Given the description of an element on the screen output the (x, y) to click on. 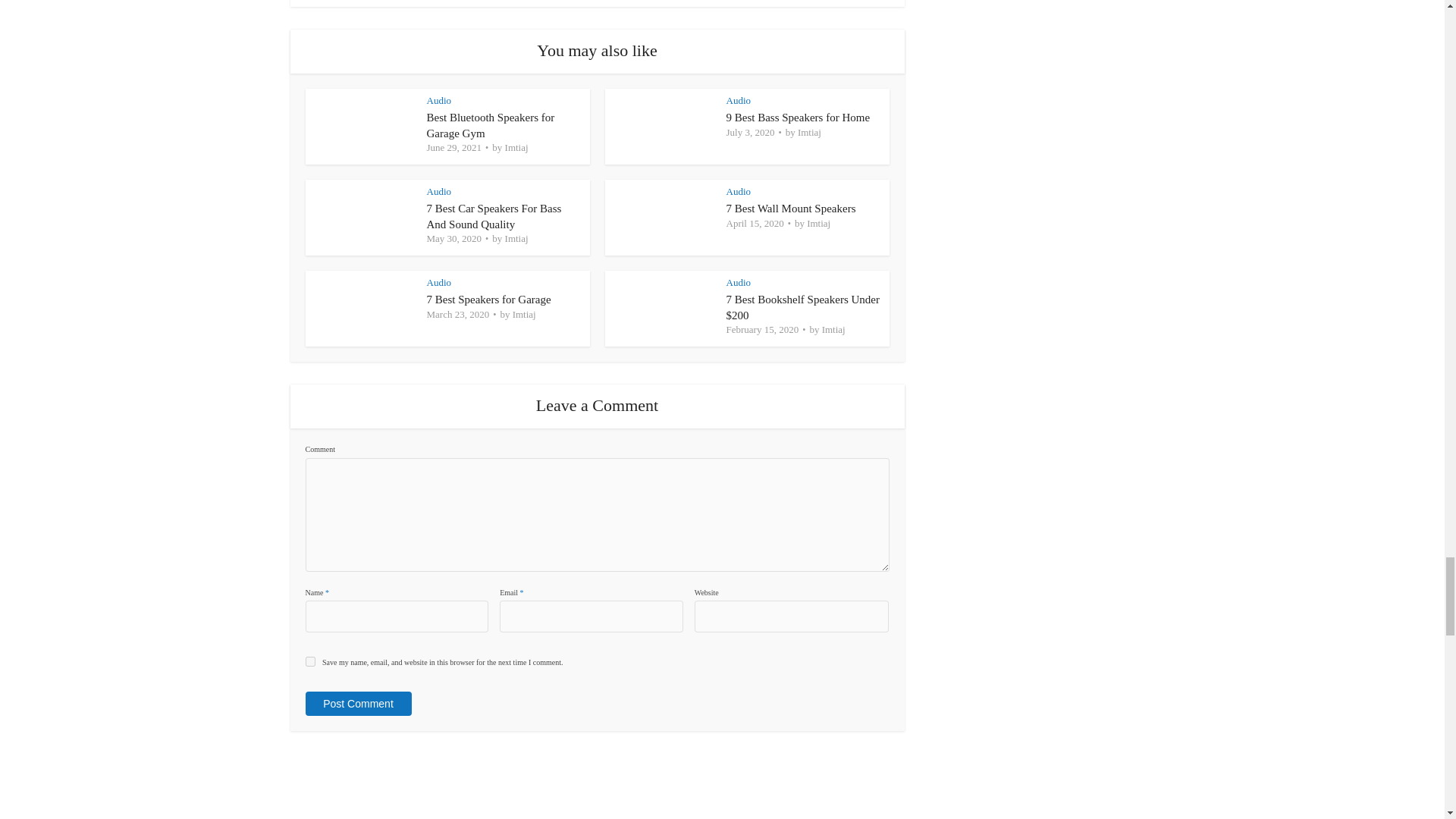
Audio (438, 100)
Imtiaj (516, 147)
Post Comment (357, 703)
7 Best Wall Mount Speakers (791, 208)
Best Bluetooth Speakers for Garage Gym (490, 124)
7 Best Car Speakers For Bass And Sound Quality (493, 216)
9 Best Bass Speakers for Home (798, 117)
Best Bluetooth Speakers for Garage Gym (490, 124)
yes (309, 661)
